Given the description of an element on the screen output the (x, y) to click on. 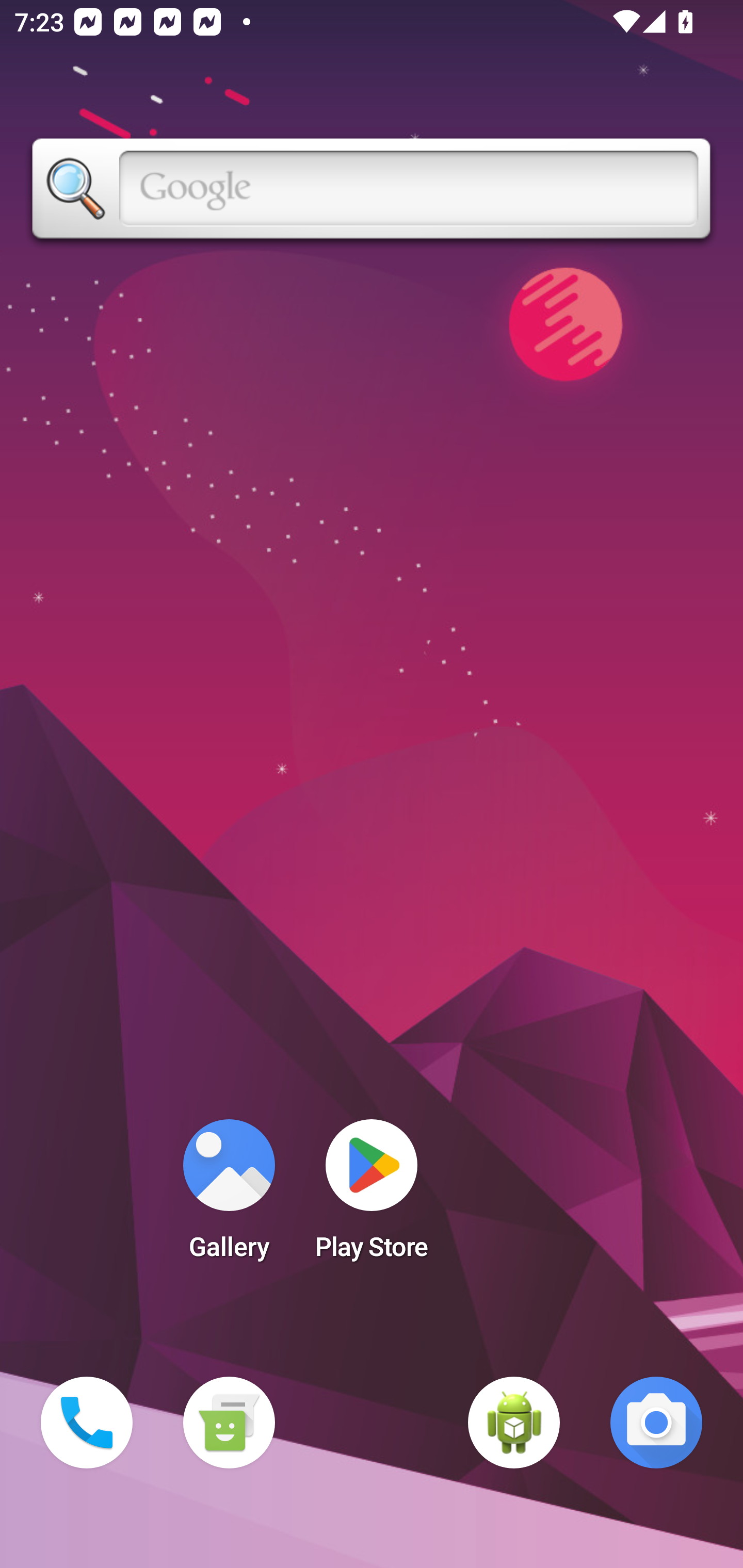
Gallery (228, 1195)
Play Store (371, 1195)
Phone (86, 1422)
Messaging (228, 1422)
WebView Browser Tester (513, 1422)
Camera (656, 1422)
